Given the description of an element on the screen output the (x, y) to click on. 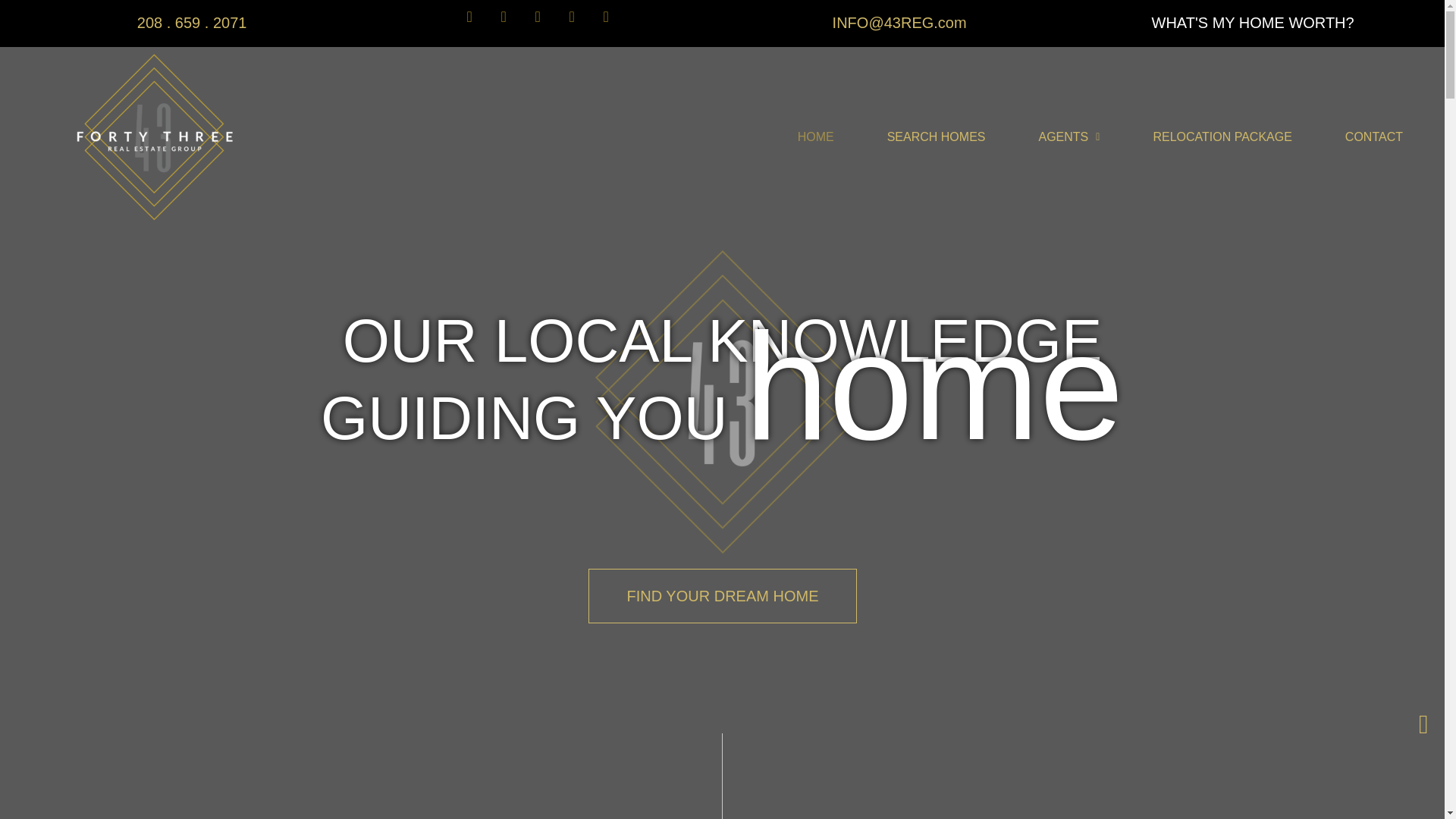
WHAT'S MY HOME WORTH? (1252, 10)
AGENTS (1068, 136)
RELOCATION PACKAGE (1221, 136)
CONTACT (1374, 136)
FIND YOUR DREAM HOME (722, 606)
SEARCH HOMES (935, 136)
208 . 659 . 2071 (191, 6)
HOME (815, 136)
